Given the description of an element on the screen output the (x, y) to click on. 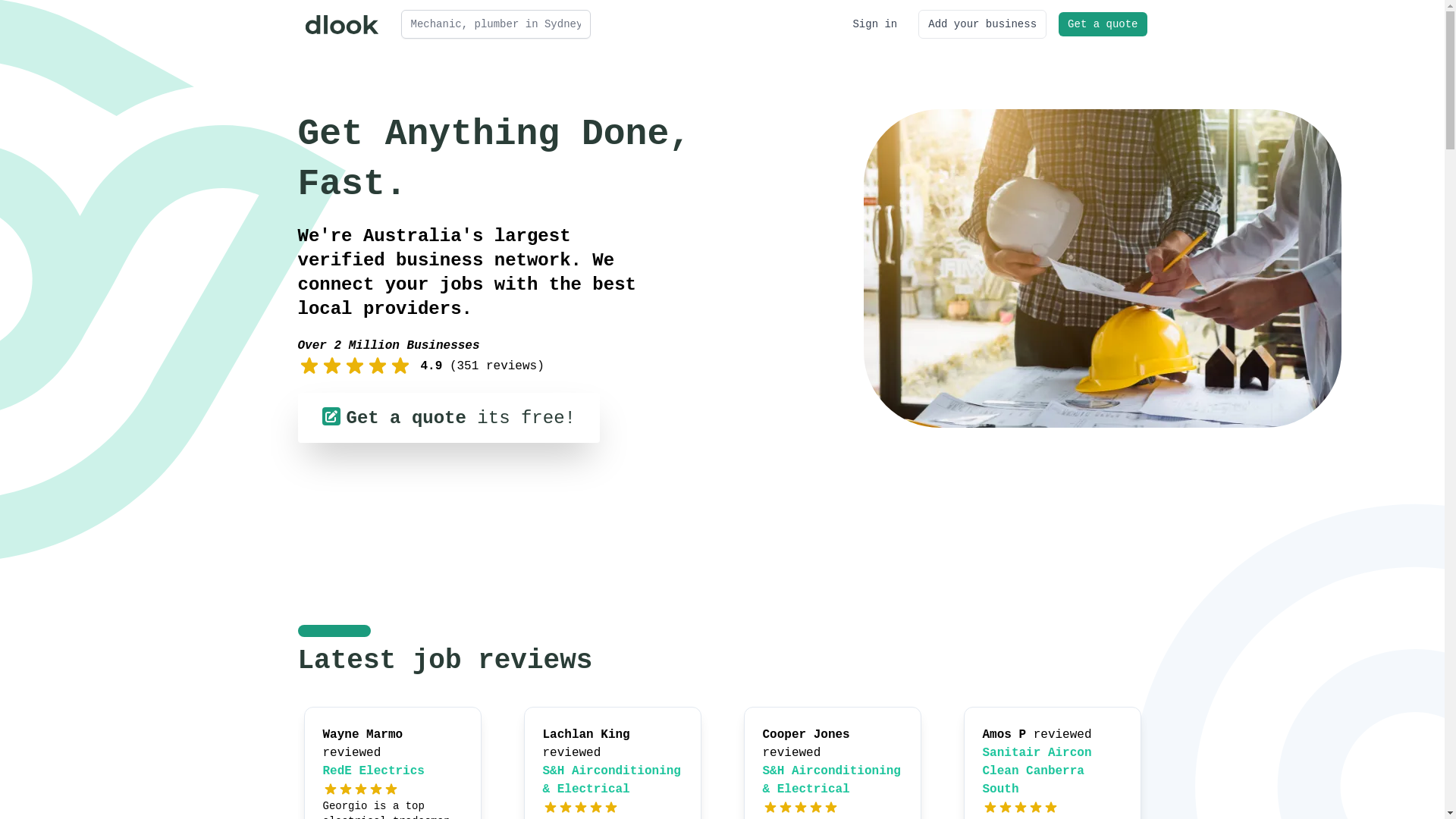
Sign in Element type: text (874, 23)
Get a quote Element type: text (1102, 24)
Sanitair Aircon Clean Canberra South Element type: text (1037, 771)
RedE Electrics Element type: text (373, 771)
S&H Airconditioning & Electrical Element type: text (831, 780)
S&H Airconditioning & Electrical Element type: text (611, 780)
Add your business Element type: text (982, 23)
Get a quote its free! Element type: text (448, 417)
